Given the description of an element on the screen output the (x, y) to click on. 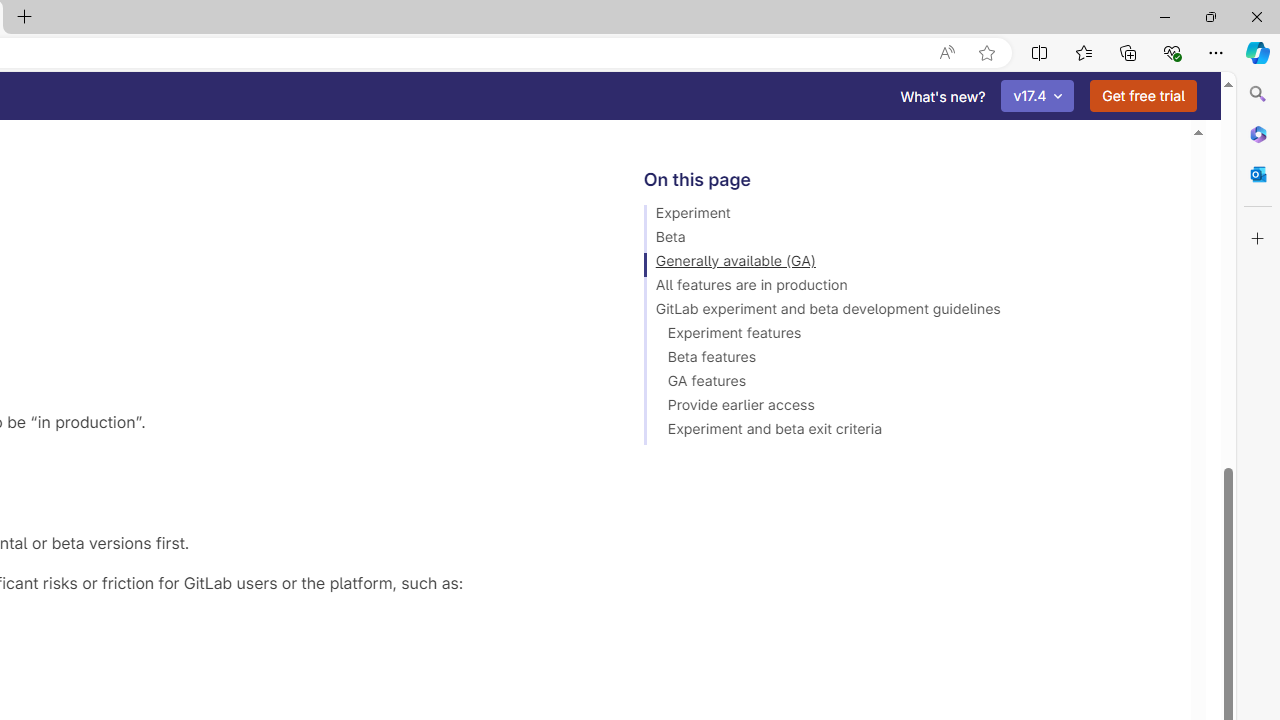
GA features (908, 384)
All features are in production (908, 287)
Generally available (GA) (908, 264)
